Given the description of an element on the screen output the (x, y) to click on. 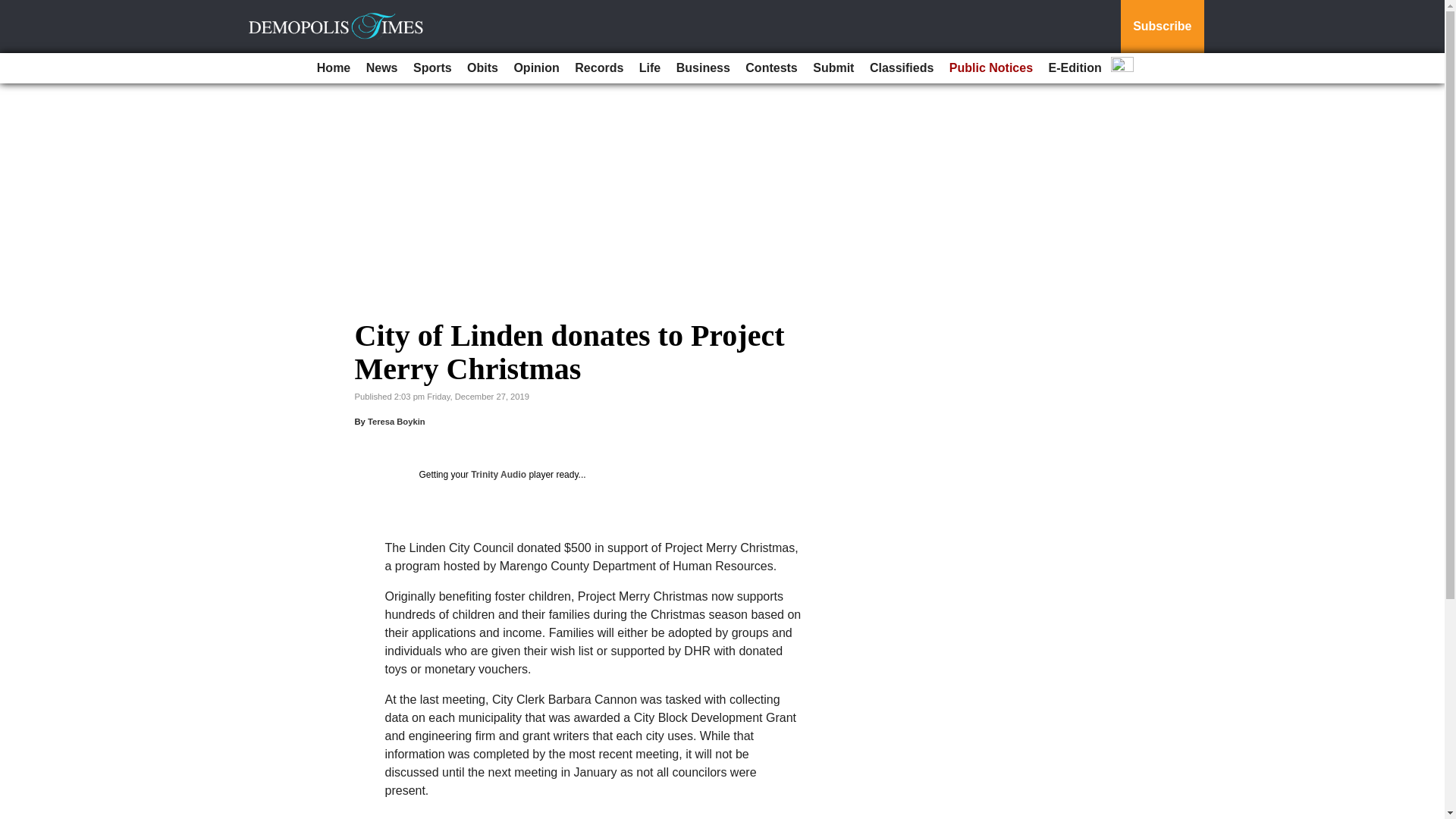
Contests (771, 68)
Subscribe (1162, 26)
Life (649, 68)
Obits (482, 68)
Sports (432, 68)
Opinion (535, 68)
Go (13, 9)
Records (598, 68)
News (381, 68)
Public Notices (991, 68)
